Given the description of an element on the screen output the (x, y) to click on. 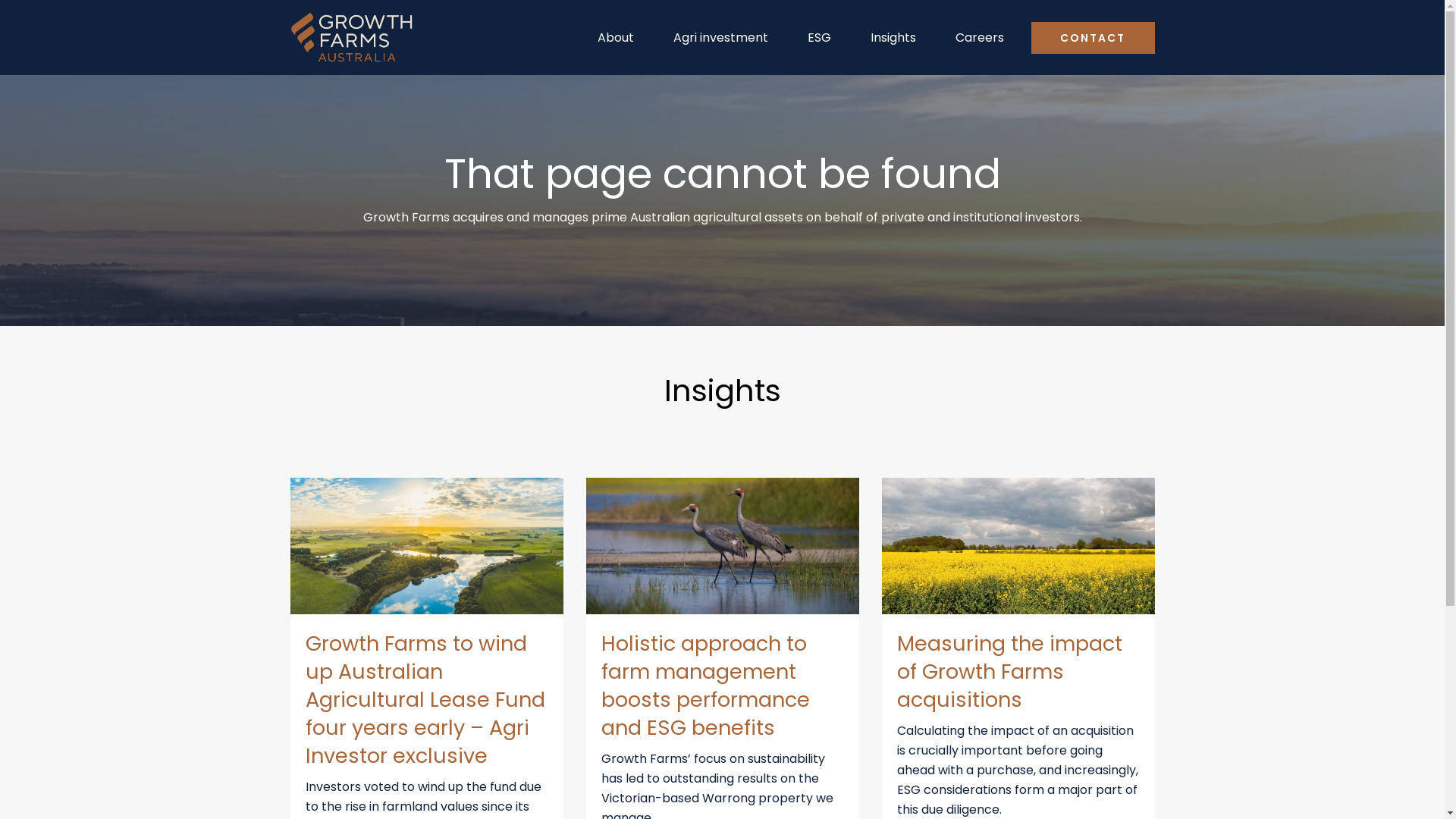
Measuring the impact of Growth Farms acquisitions Element type: text (1008, 671)
Agri investment Element type: text (720, 37)
CONTACT Element type: text (1092, 37)
Careers Element type: text (979, 37)
About Element type: text (615, 37)
ESG Element type: text (818, 37)
Insights Element type: text (892, 37)
GFA_COL_REV_RGB_TRANSPARENT Element type: hover (351, 37)
